Given the description of an element on the screen output the (x, y) to click on. 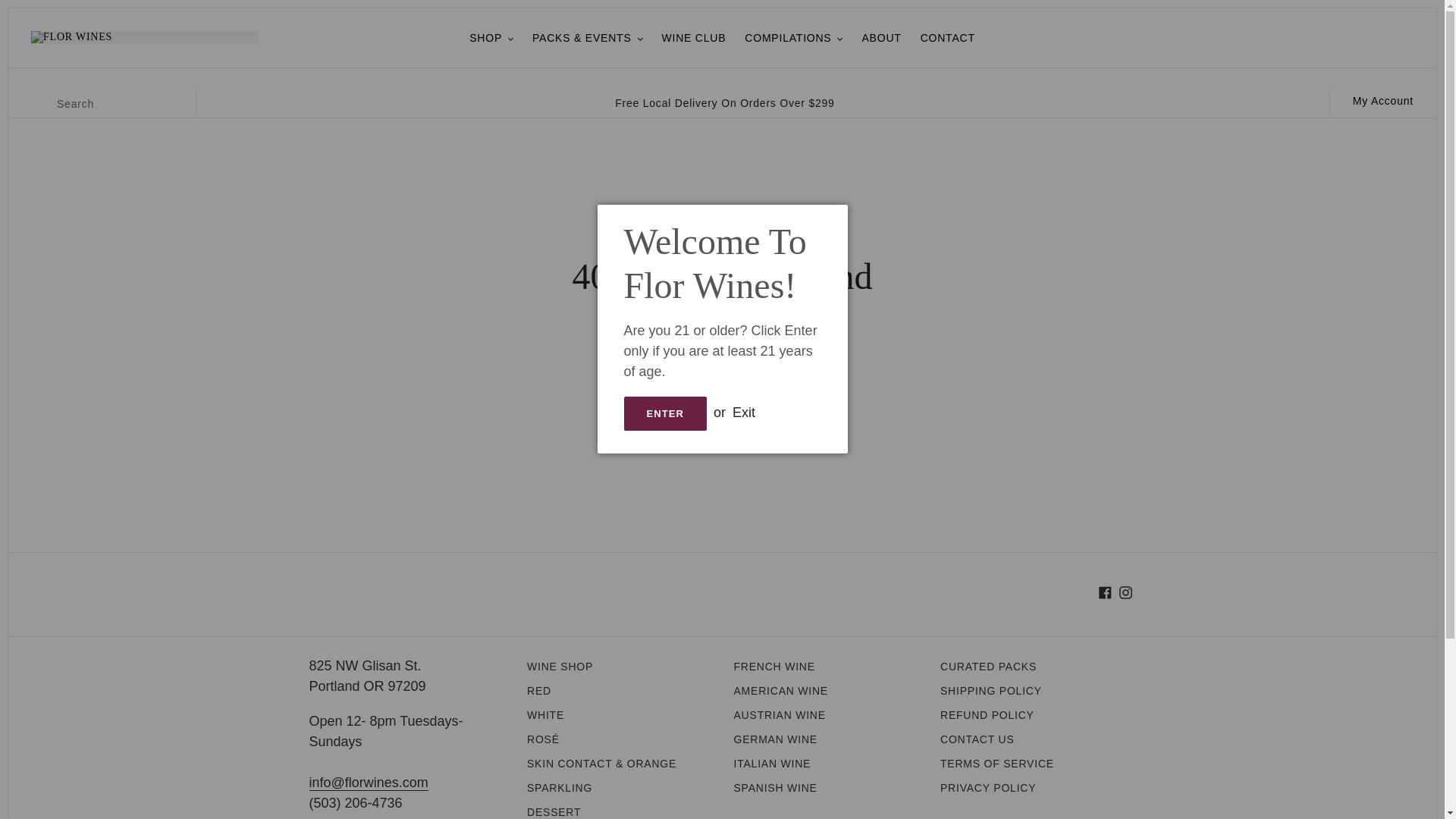
ABOUT (880, 37)
WINE CLUB (693, 37)
COMPILATIONS (793, 37)
CONTACT (947, 37)
SHOP (491, 37)
